Given the description of an element on the screen output the (x, y) to click on. 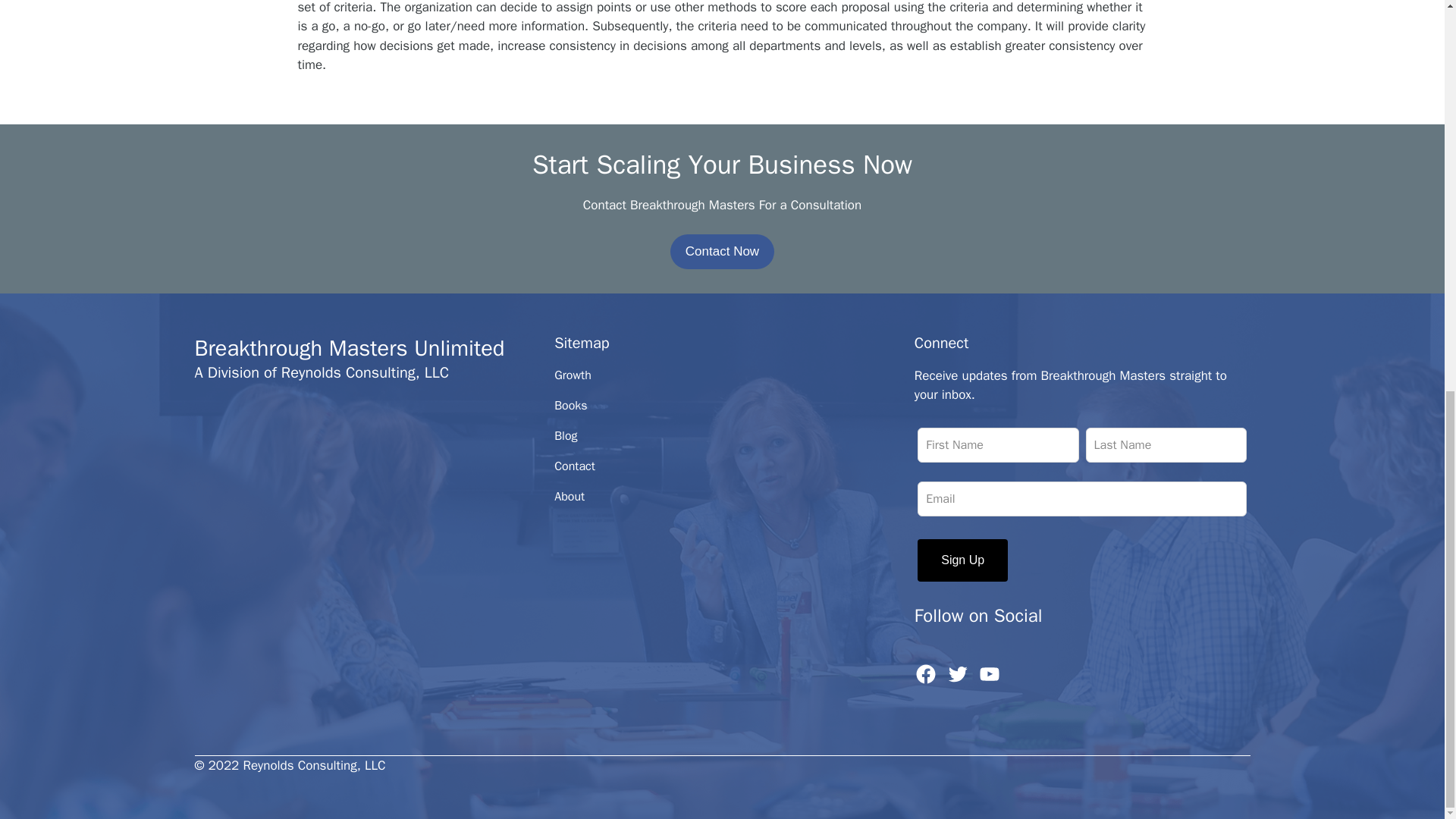
Books (570, 405)
Contact (574, 466)
About (569, 496)
Blog (565, 435)
Growth (572, 375)
Contact Now (721, 251)
